Given the description of an element on the screen output the (x, y) to click on. 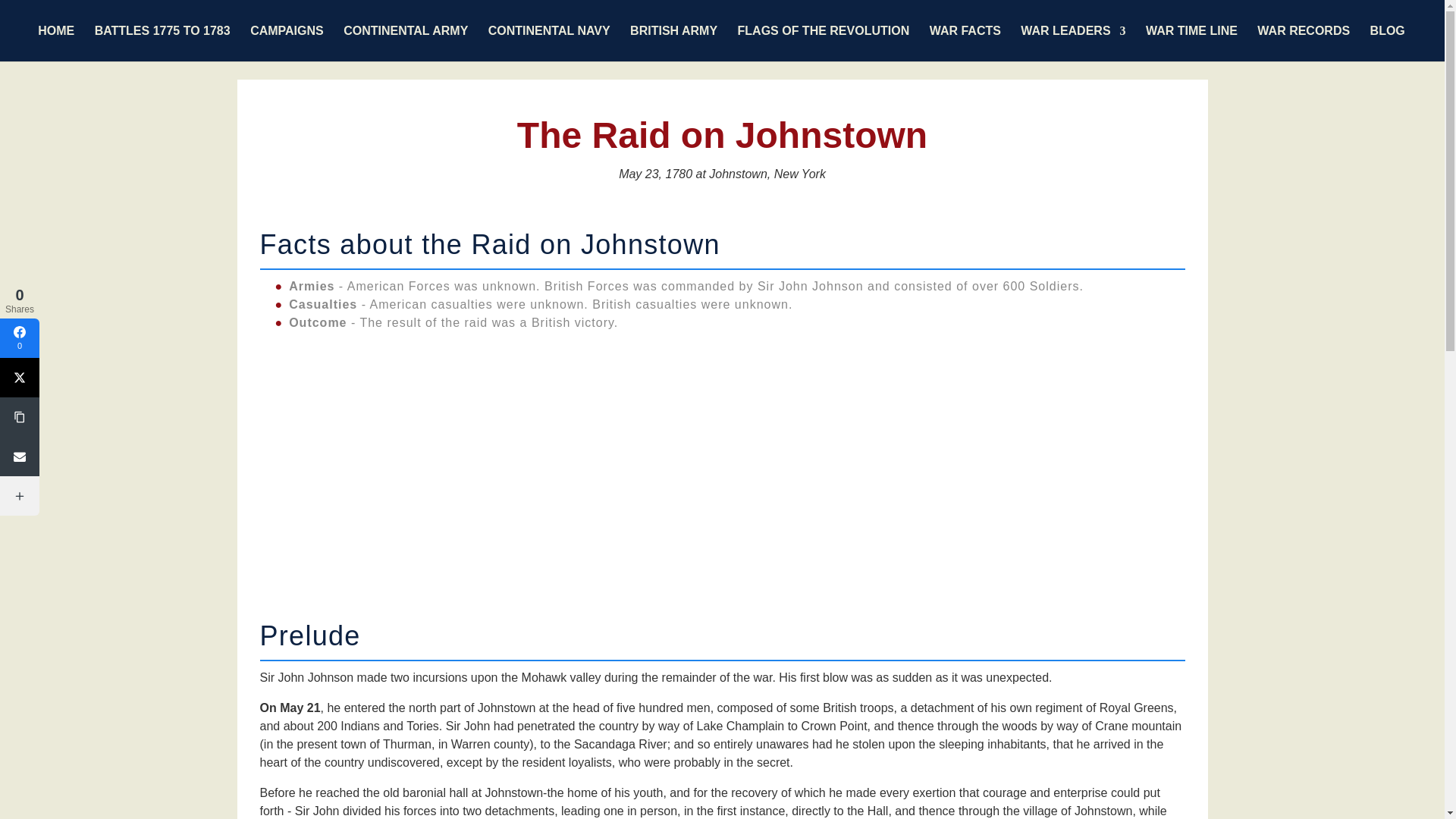
HOME (55, 43)
WAR FACTS (965, 43)
WAR RECORDS (1303, 43)
CAMPAIGNS (286, 43)
CONTINENTAL NAVY (548, 43)
WAR LEADERS (1072, 43)
BLOG (1387, 43)
0 (19, 337)
FLAGS OF THE REVOLUTION (824, 43)
WAR TIME LINE (1191, 43)
BATTLES 1775 TO 1783 (162, 43)
BRITISH ARMY (673, 43)
CONTINENTAL ARMY (405, 43)
